Given the description of an element on the screen output the (x, y) to click on. 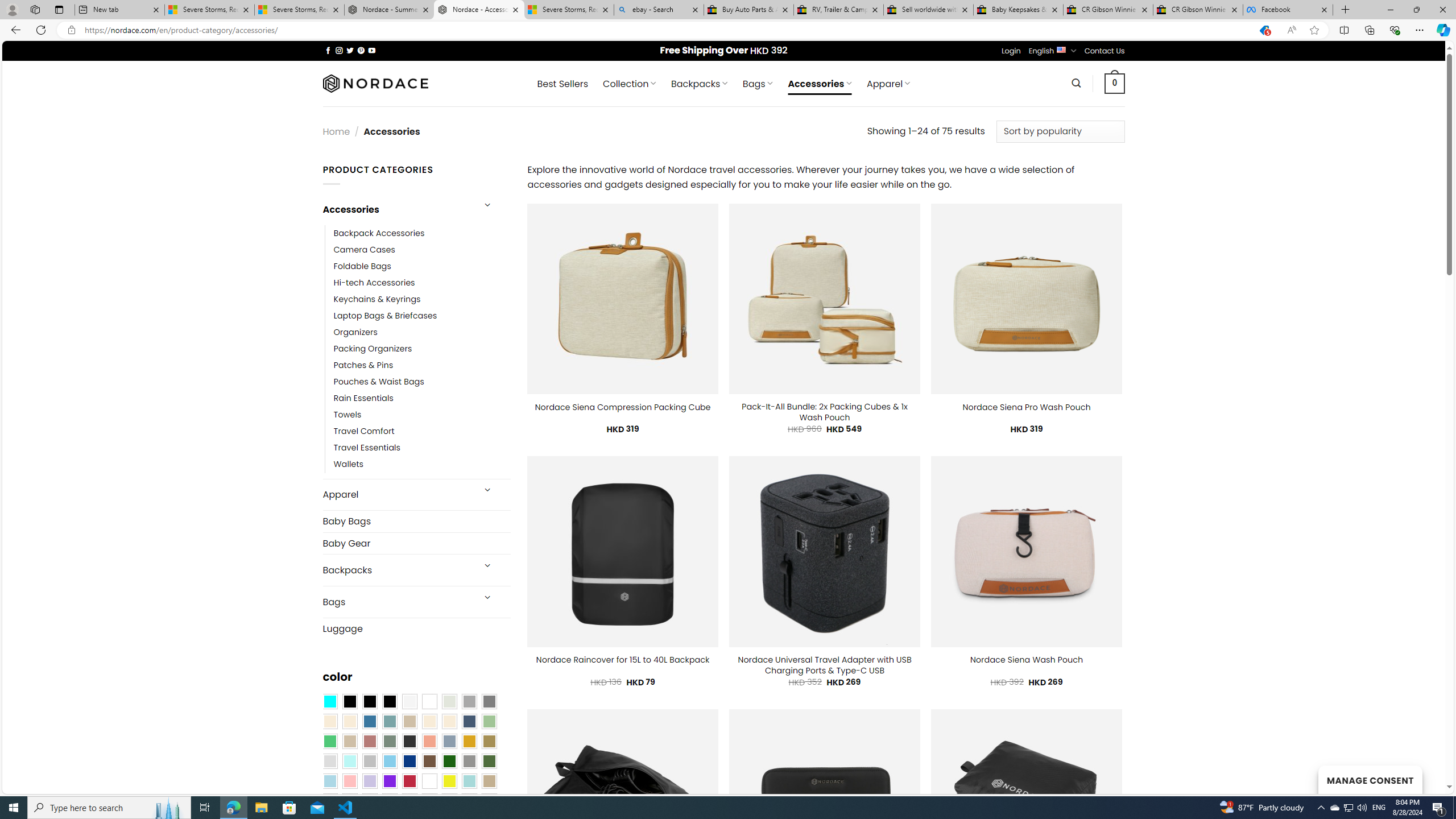
Laptop Bags & Briefcases (422, 316)
Close tab (1324, 9)
Pearly White (408, 701)
Accessories (397, 209)
Restore (1416, 9)
New Tab (1346, 9)
Light Purple (369, 780)
Charcoal (408, 741)
Nordace (374, 83)
Apparel (397, 494)
Travel Comfort (422, 431)
View site information (70, 29)
